Given the description of an element on the screen output the (x, y) to click on. 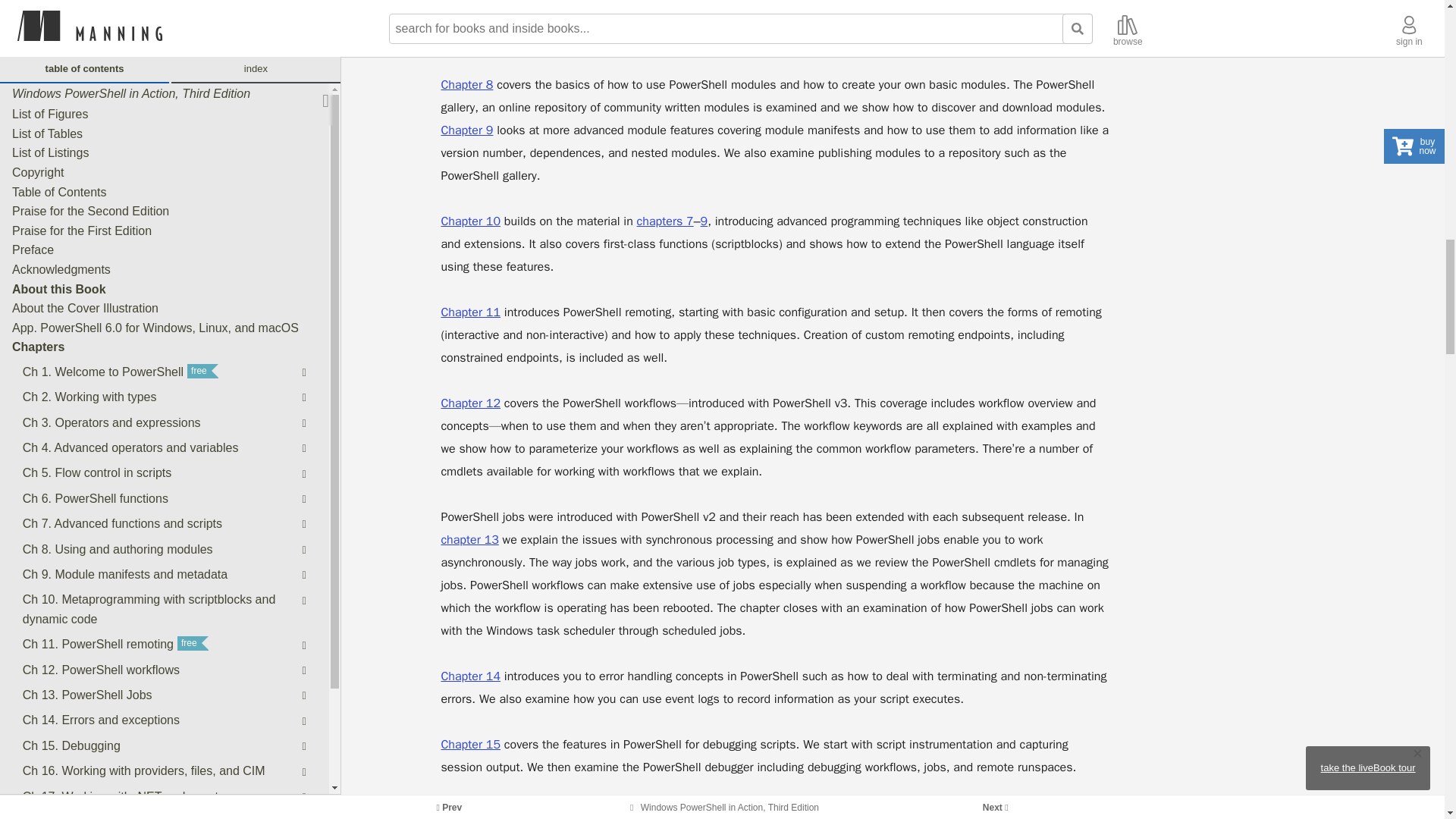
Chapter 6 (467, 0)
chapter 6 (693, 16)
Chapter 7 (506, 16)
